Given the description of an element on the screen output the (x, y) to click on. 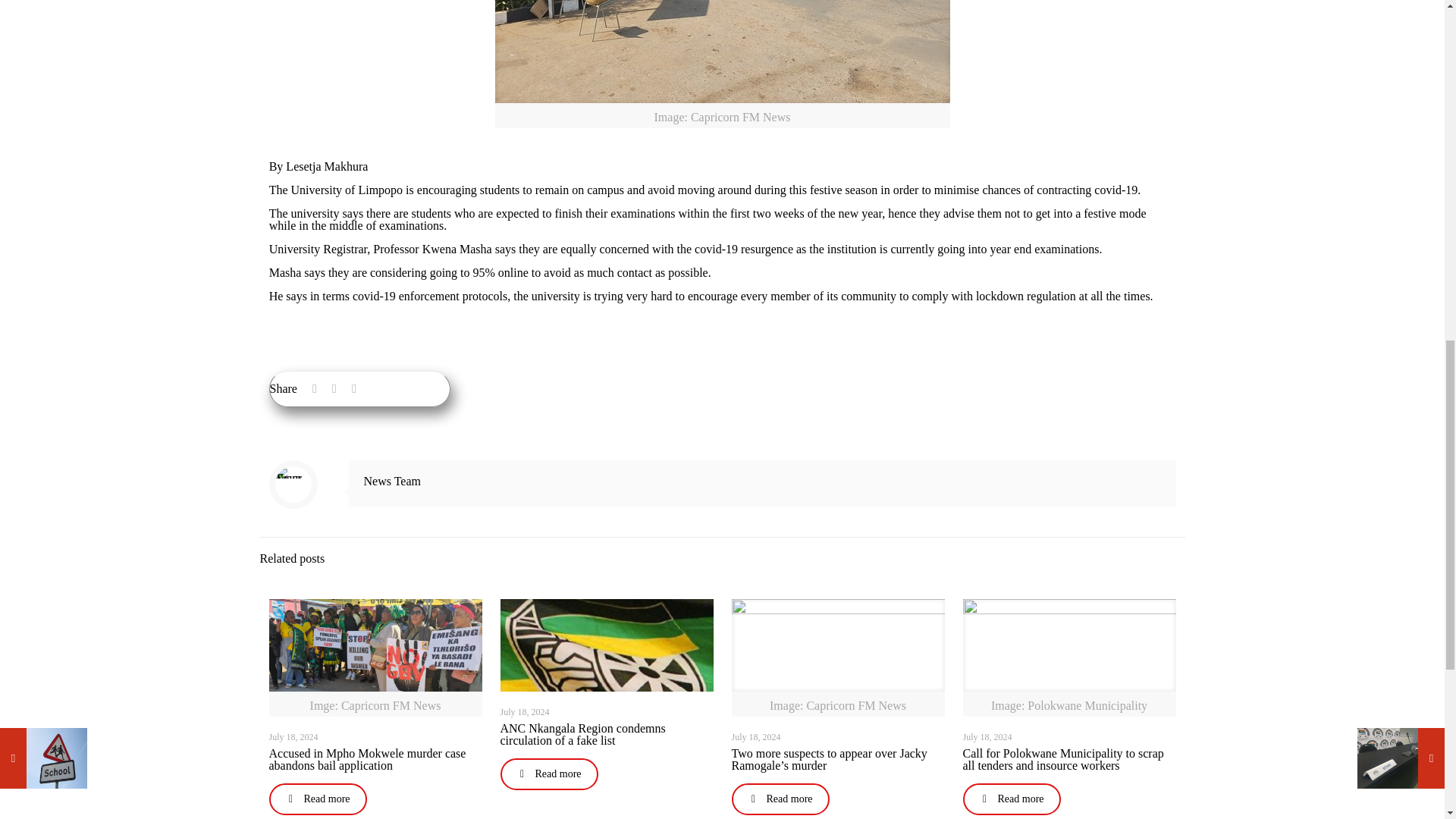
Read more (779, 798)
News Team (392, 481)
ANC Nkangala Region condemns circulation of a fake list (582, 733)
Read more (316, 798)
Read more (549, 774)
